Given the description of an element on the screen output the (x, y) to click on. 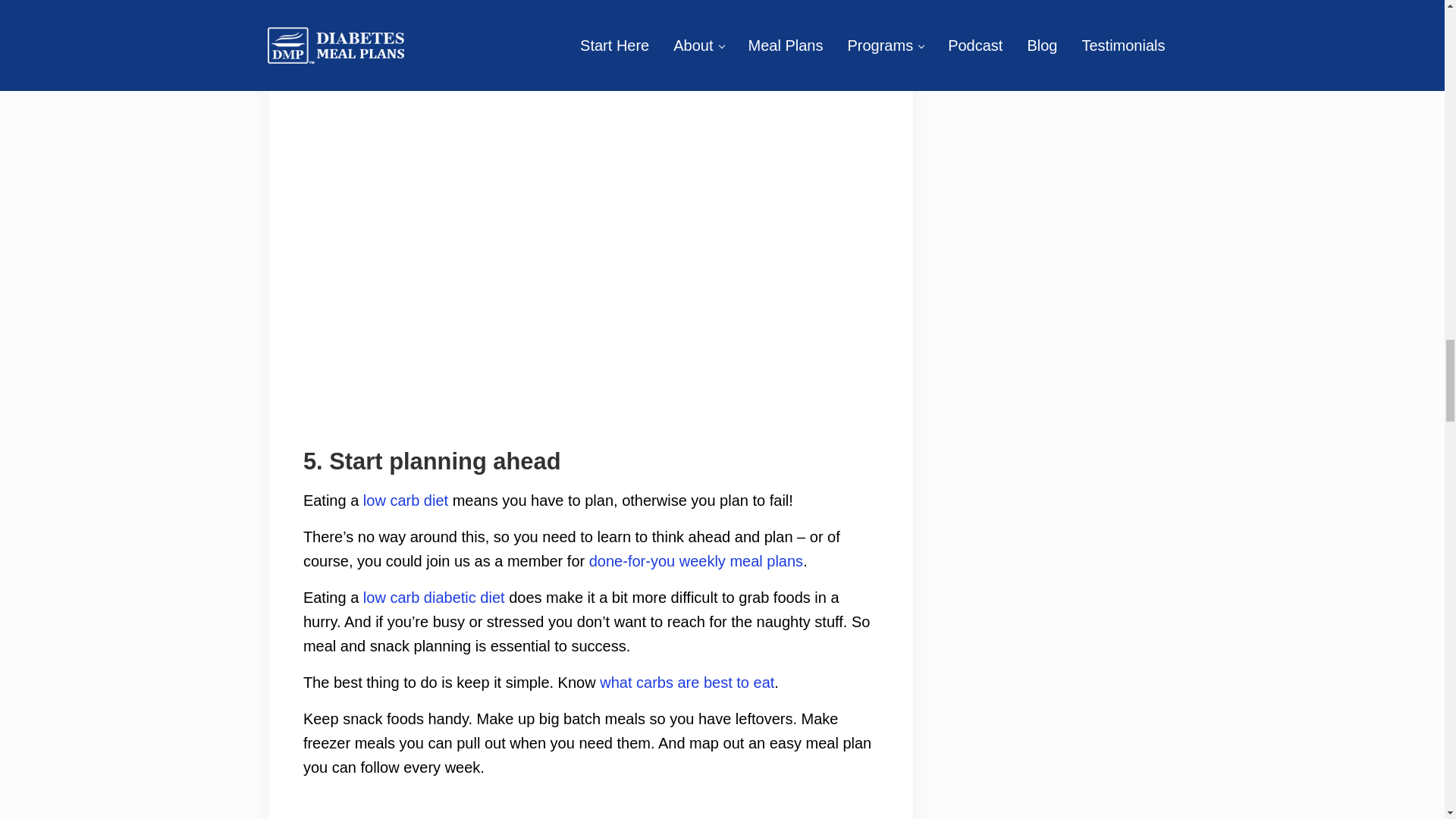
Facebook (590, 386)
Twitter (625, 386)
Pinterest (556, 386)
